Given the description of an element on the screen output the (x, y) to click on. 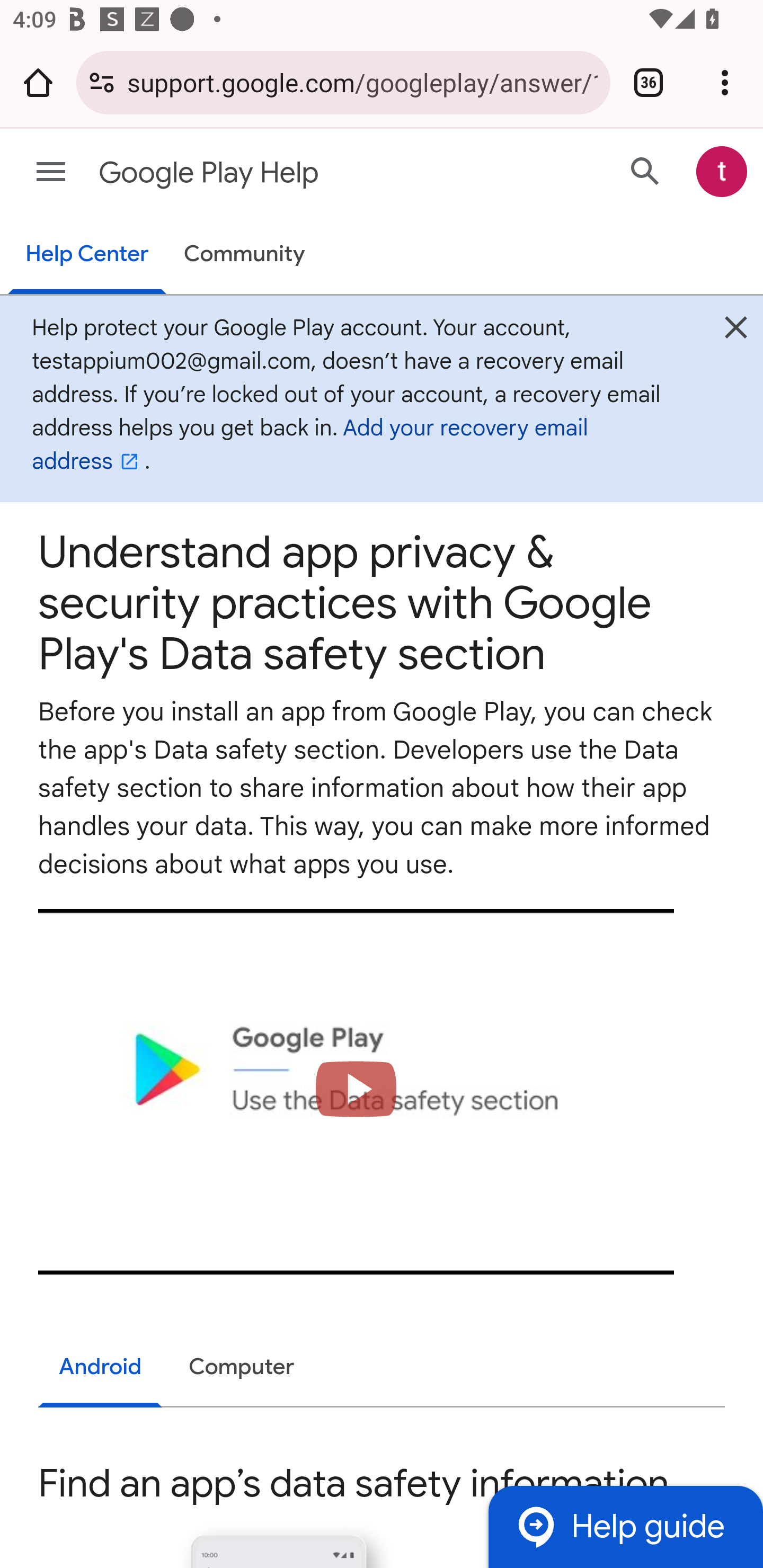
Open the home page (38, 82)
Connection is secure (101, 82)
Switch or close tabs (648, 82)
Customize and control Google Chrome (724, 82)
Main menu (50, 171)
Google Play Help (311, 173)
Search Help Center (645, 171)
Help Center (86, 255)
Community (243, 253)
Close (736, 331)
Add your recovery email address (310, 444)
Load video (356, 1091)
Android (101, 1368)
Computer (241, 1366)
Help guide (625, 1527)
